Given the description of an element on the screen output the (x, y) to click on. 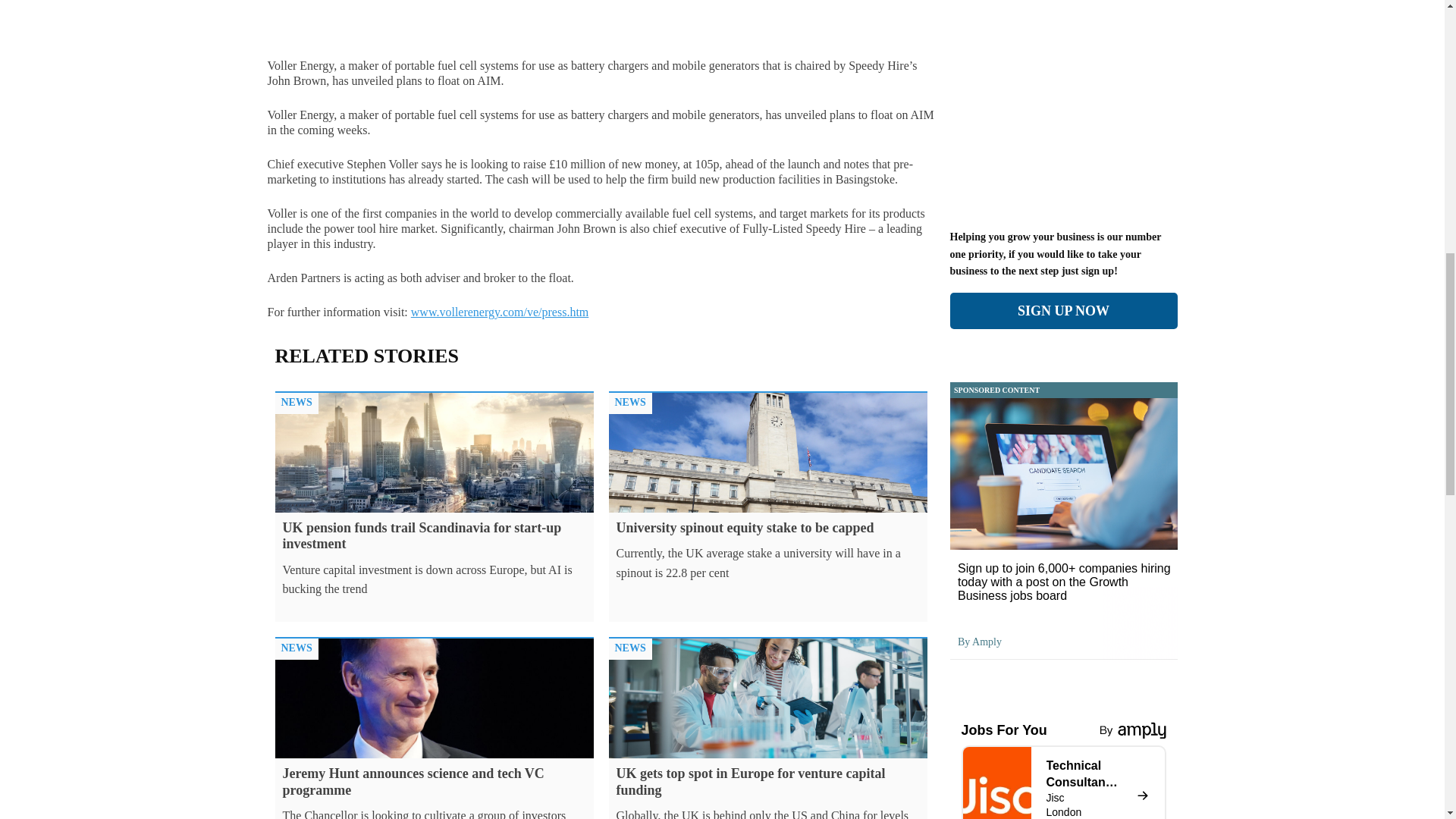
3rd party ad content (1062, 4)
3rd party ad content (1062, 118)
3rd party ad content (195, 4)
3rd party ad content (1249, 4)
